Given the description of an element on the screen output the (x, y) to click on. 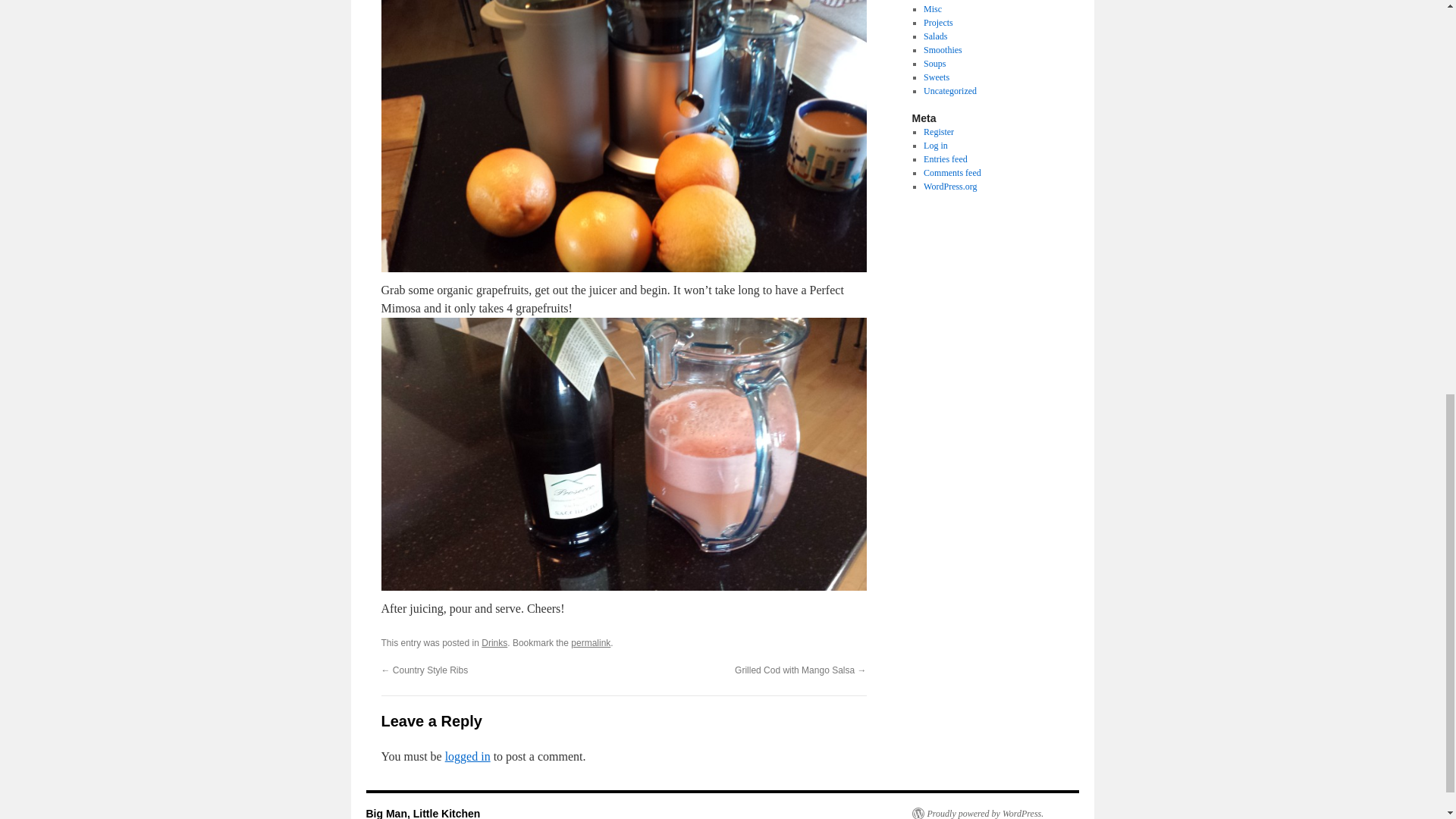
Projects (938, 22)
Smoothies (942, 50)
Drinks (493, 643)
Salads (935, 36)
Permalink to Perfect Mimosa (590, 643)
permalink (590, 643)
Main Dishes (946, 0)
logged in (467, 756)
Misc (932, 9)
Soups (933, 63)
